Given the description of an element on the screen output the (x, y) to click on. 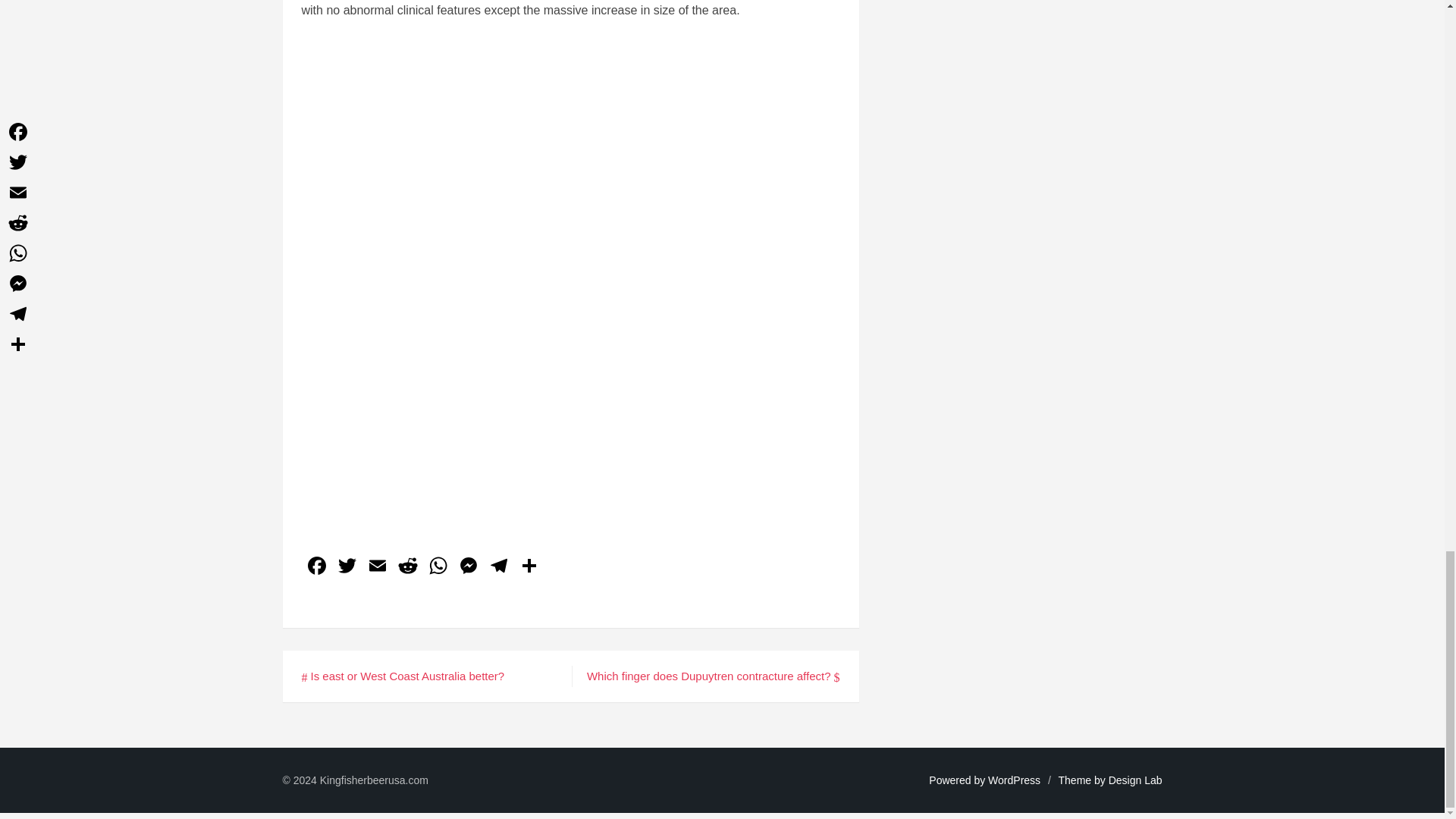
Powered by WordPress (984, 779)
Which finger does Dupuytren contracture affect? (713, 675)
Facebook (316, 567)
Email (377, 567)
Twitter (346, 567)
Is east or West Coast Australia better? (403, 675)
Email (377, 567)
Facebook (316, 567)
Twitter (346, 567)
Telegram (498, 567)
Messenger (467, 567)
WhatsApp (437, 567)
Share (528, 567)
Reddit (408, 567)
